Given the description of an element on the screen output the (x, y) to click on. 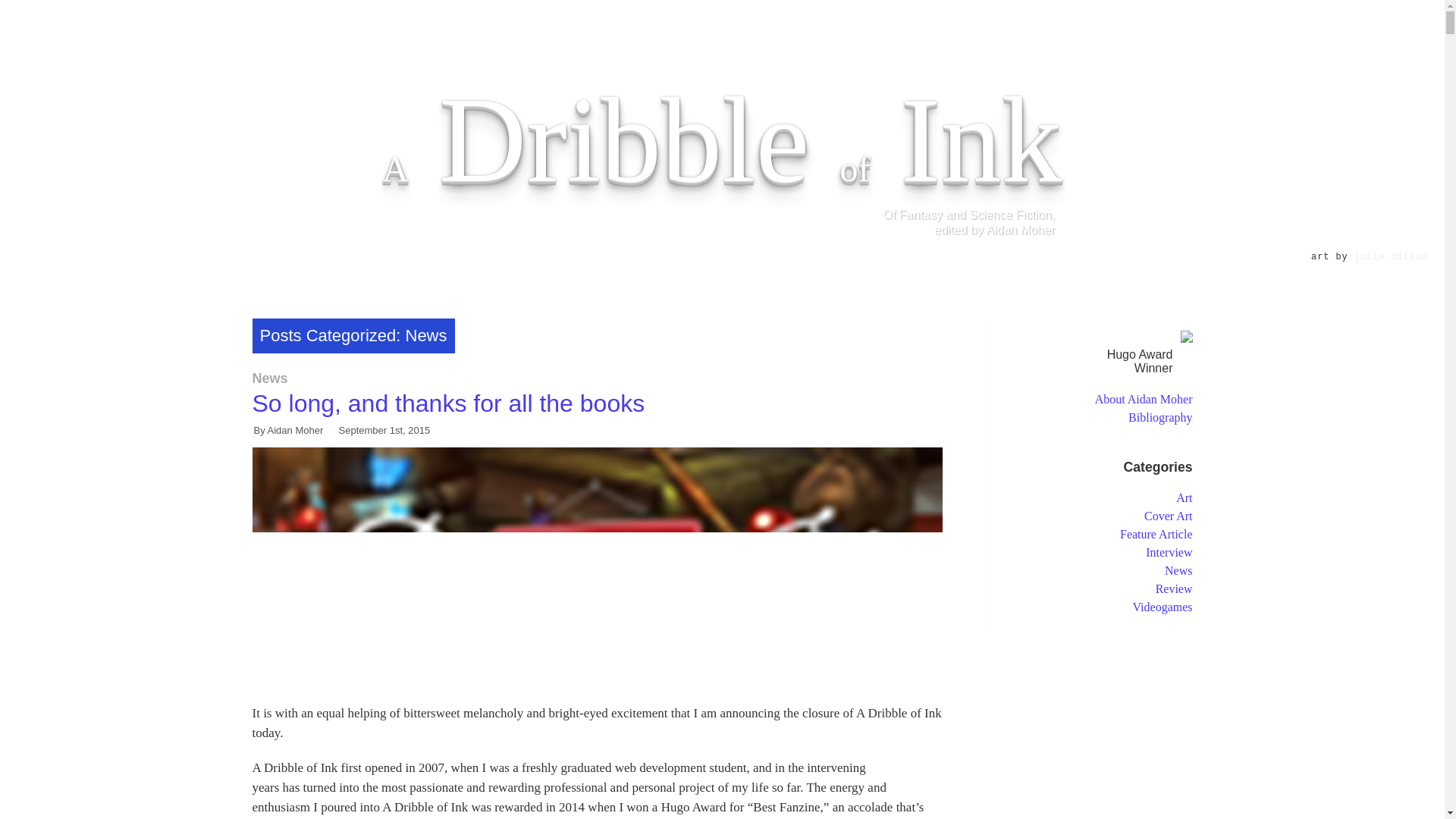
A Dribble of Ink (721, 140)
julie dillon (1391, 256)
So long, and thanks for all the books (448, 402)
News (268, 378)
So long, and thanks for all the books (448, 402)
